Given the description of an element on the screen output the (x, y) to click on. 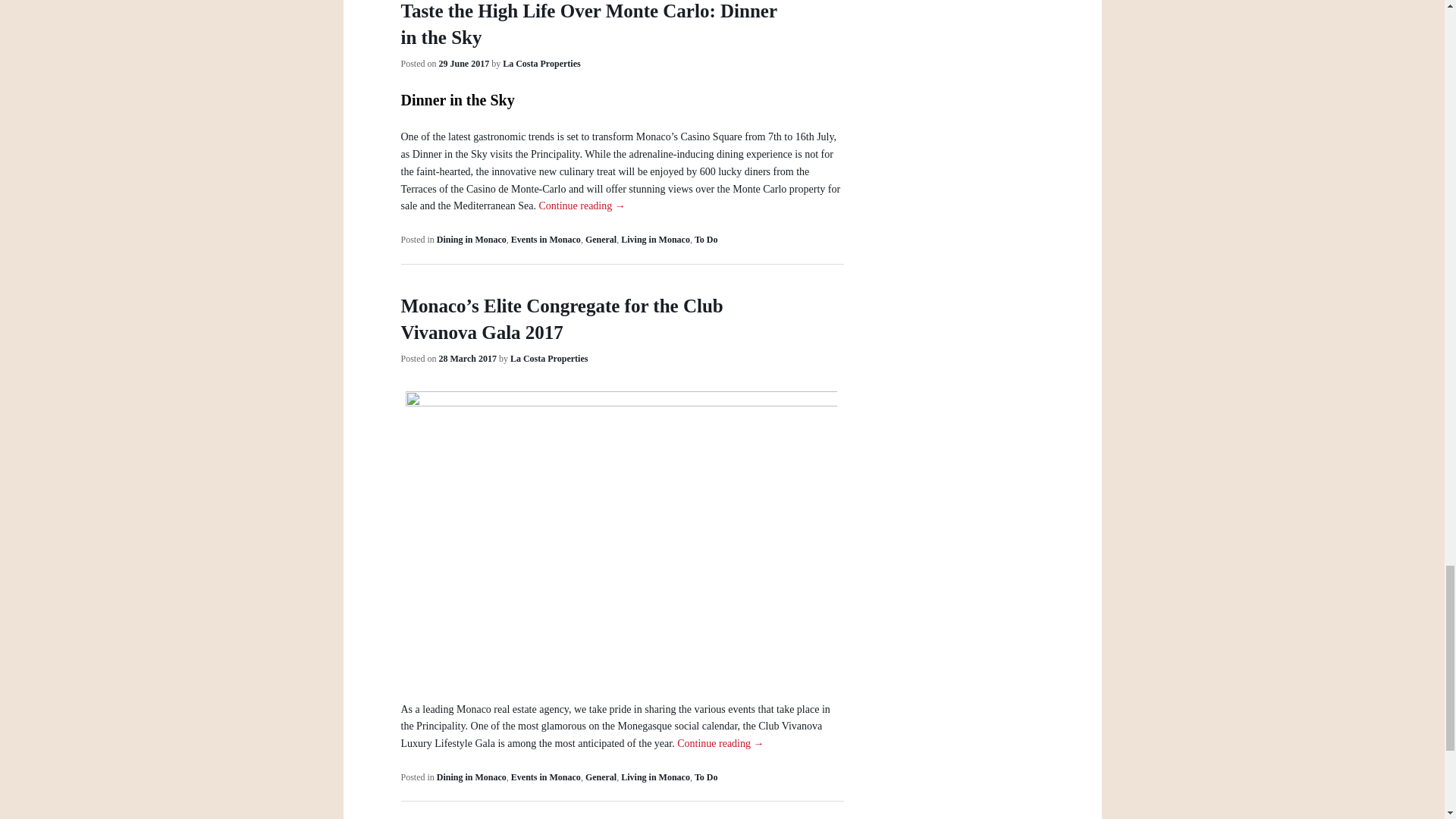
View all posts by La Costa Properties (549, 357)
La Costa Properties (540, 63)
14 h 31 min (464, 63)
11 h 00 min (467, 357)
Taste the High Life Over Monte Carlo: Dinner in the Sky (588, 23)
Dining in Monaco (471, 239)
Monte Carlo property for sale (620, 197)
View all posts by La Costa Properties (540, 63)
29 June 2017 (464, 63)
Events in Monaco (545, 239)
